Given the description of an element on the screen output the (x, y) to click on. 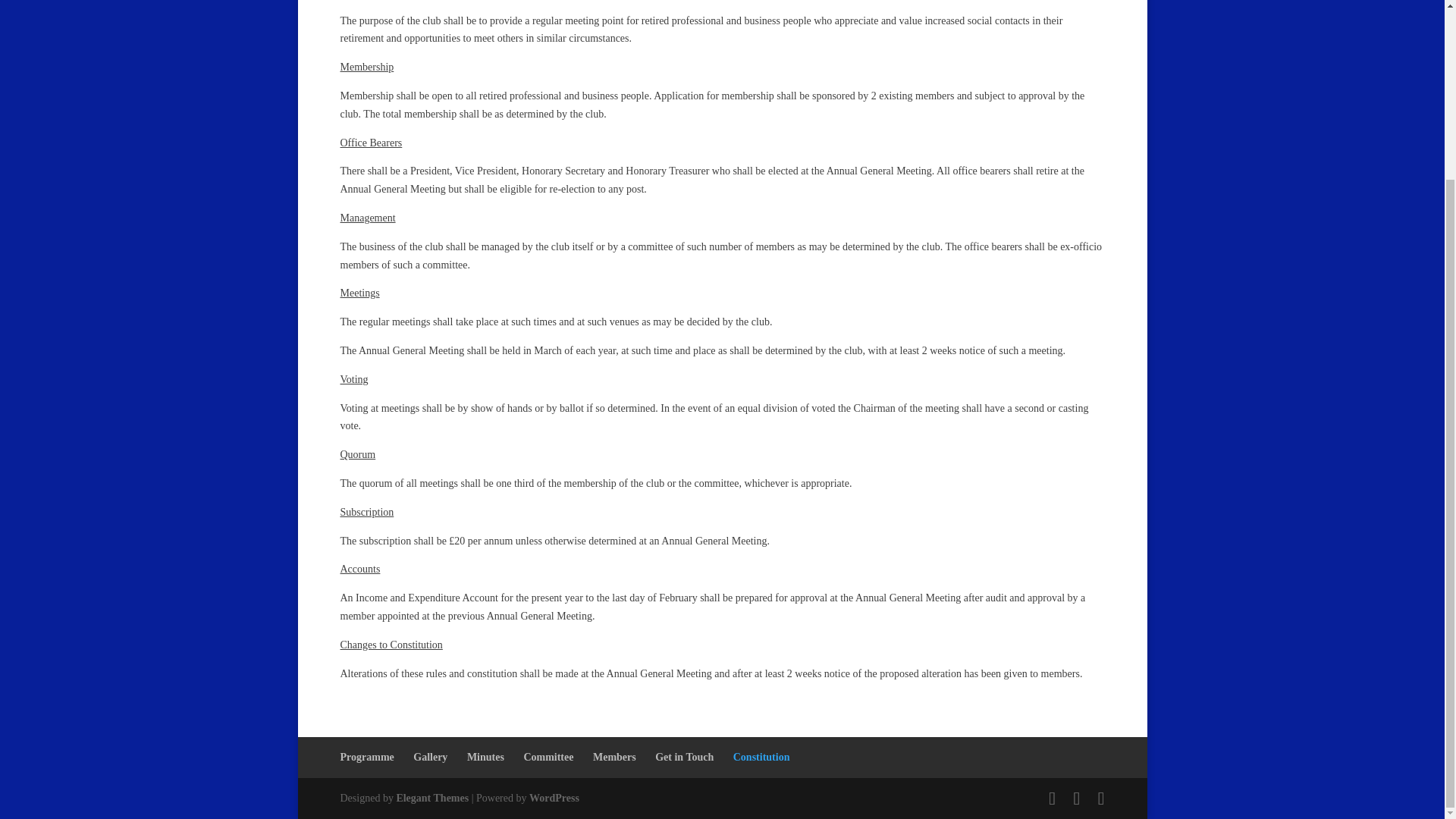
Constitution (761, 756)
Programme (366, 756)
Elegant Themes (432, 797)
WordPress (554, 797)
Gallery (429, 756)
Committee (547, 756)
Minutes (485, 756)
Premium WordPress Themes (432, 797)
Get in Touch (684, 756)
Members (614, 756)
